Given the description of an element on the screen output the (x, y) to click on. 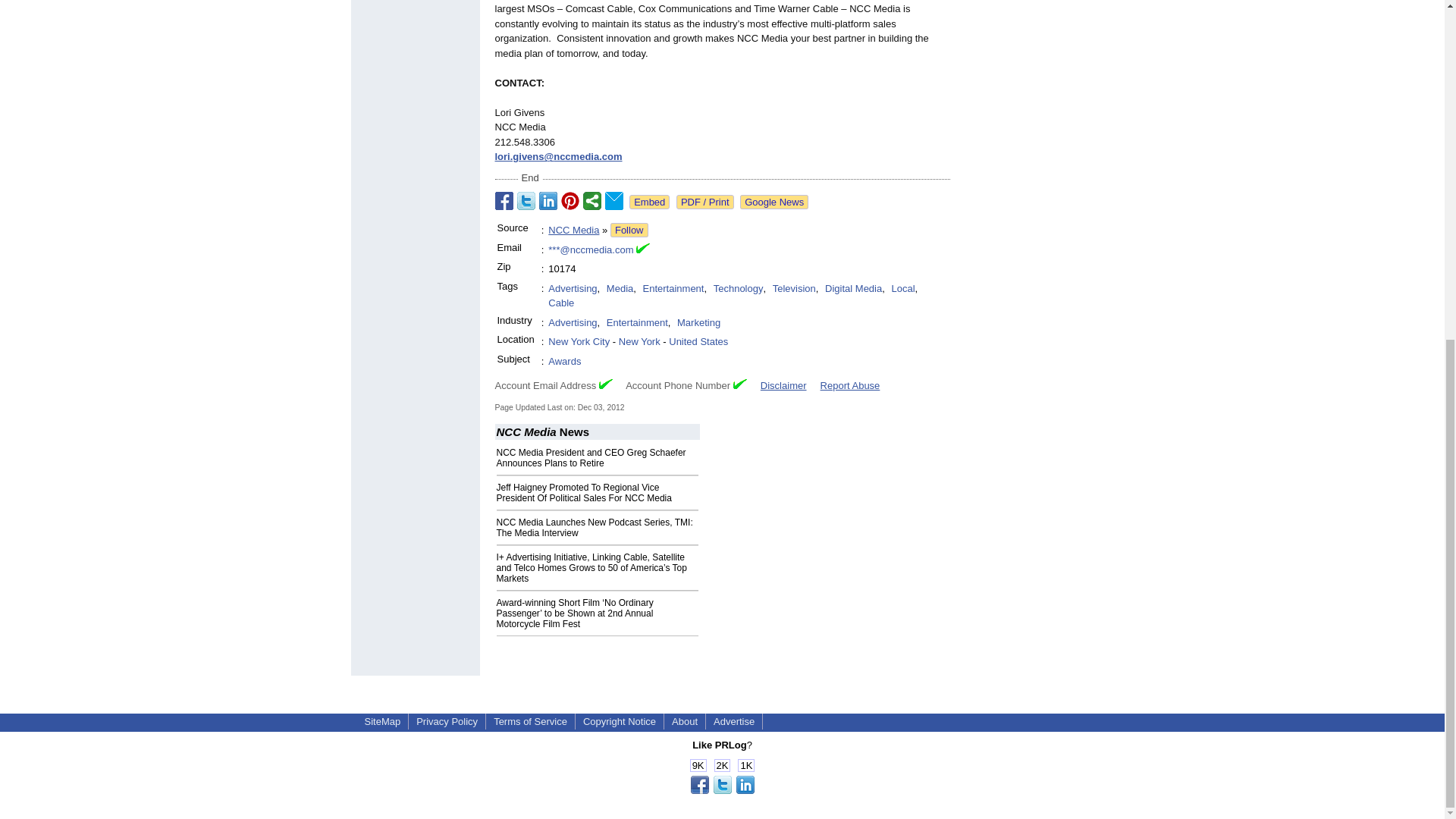
See or print the PDF version! (705, 201)
Verified (739, 384)
Embed this press release in your website! (648, 201)
Verified (605, 384)
Embed (648, 201)
Share on Pinterest (569, 200)
Email Verified (642, 249)
Share on StumbleUpon, Digg, etc (590, 200)
Share on LinkedIn (547, 200)
Share on Twitter (525, 200)
Email to a Friend (614, 200)
Embed (648, 201)
Share this page! (722, 790)
Share on Facebook (503, 200)
